Given the description of an element on the screen output the (x, y) to click on. 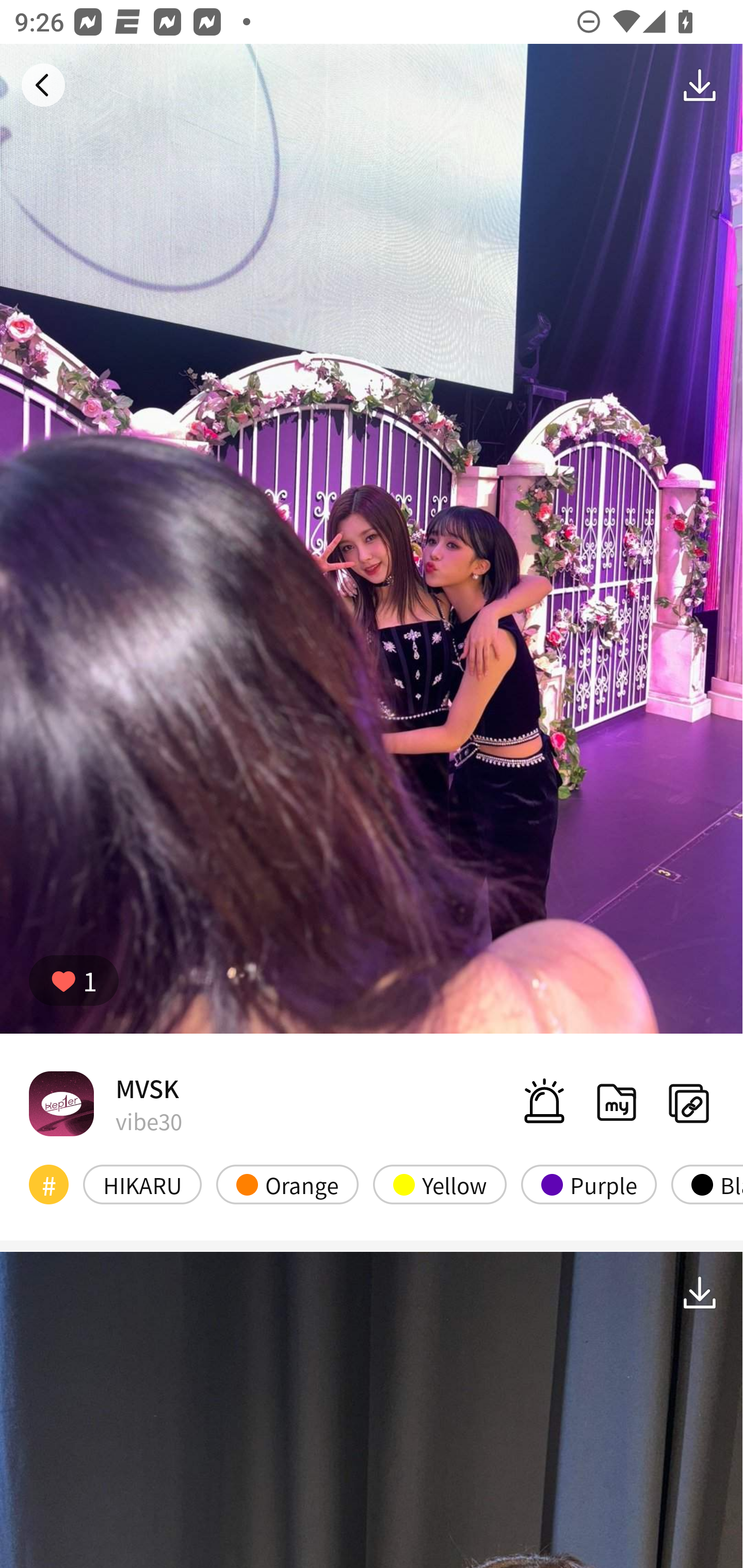
1 (73, 980)
MVSK vibe30 (105, 1102)
HIKARU (142, 1184)
Orange (287, 1184)
Yellow (439, 1184)
Purple (588, 1184)
Black (706, 1184)
